Given the description of an element on the screen output the (x, y) to click on. 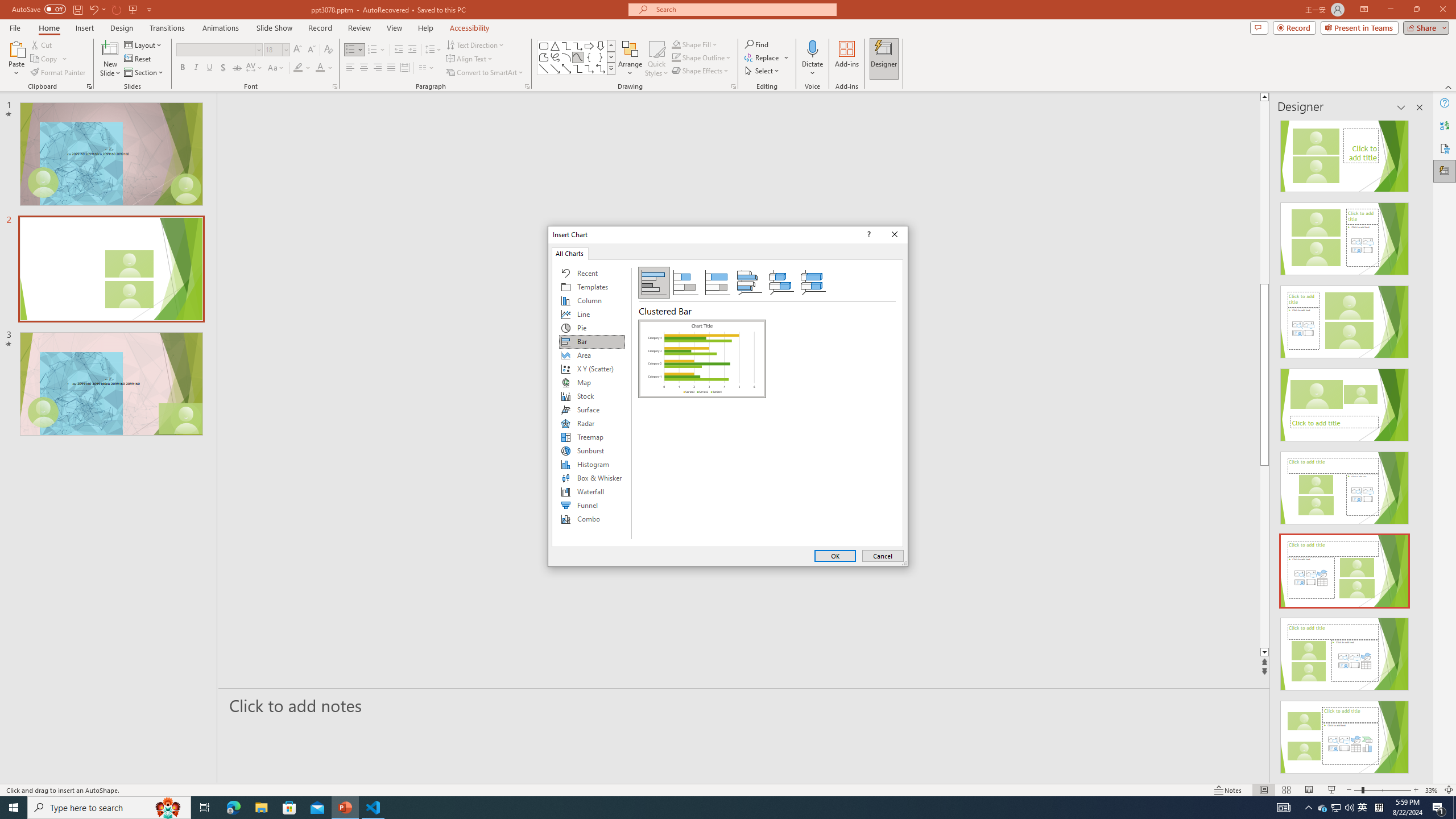
Right Brace (600, 57)
3-D Clustered Bar (749, 282)
Context help (867, 234)
Page up (1302, 192)
Recent (591, 273)
Increase Font Size (297, 49)
